Given the description of an element on the screen output the (x, y) to click on. 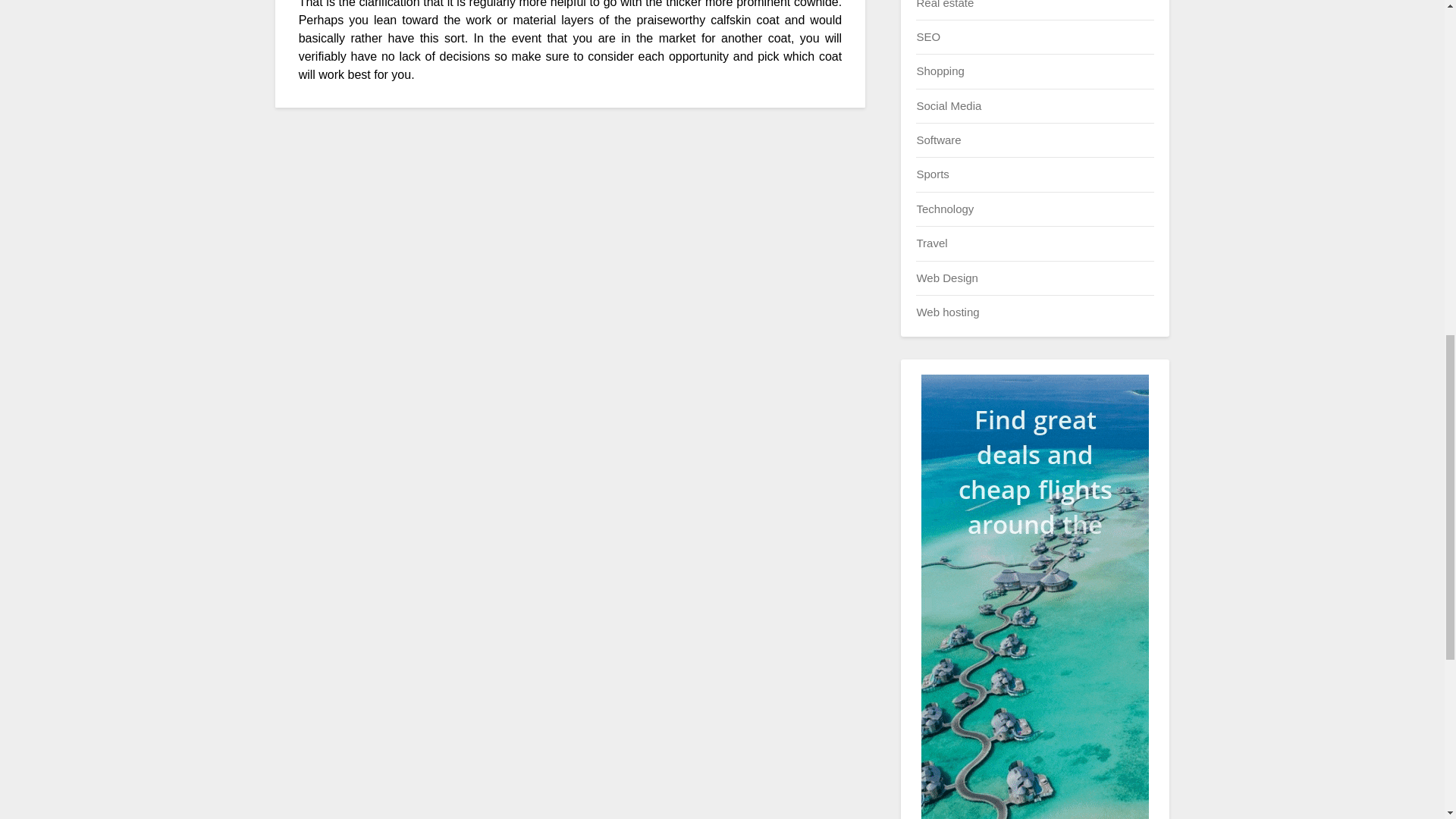
SEO (927, 36)
Software (937, 139)
Sports (932, 173)
Technology (944, 208)
Social Media (948, 105)
Shopping (939, 70)
Travel (931, 242)
Real estate (944, 4)
